Given the description of an element on the screen output the (x, y) to click on. 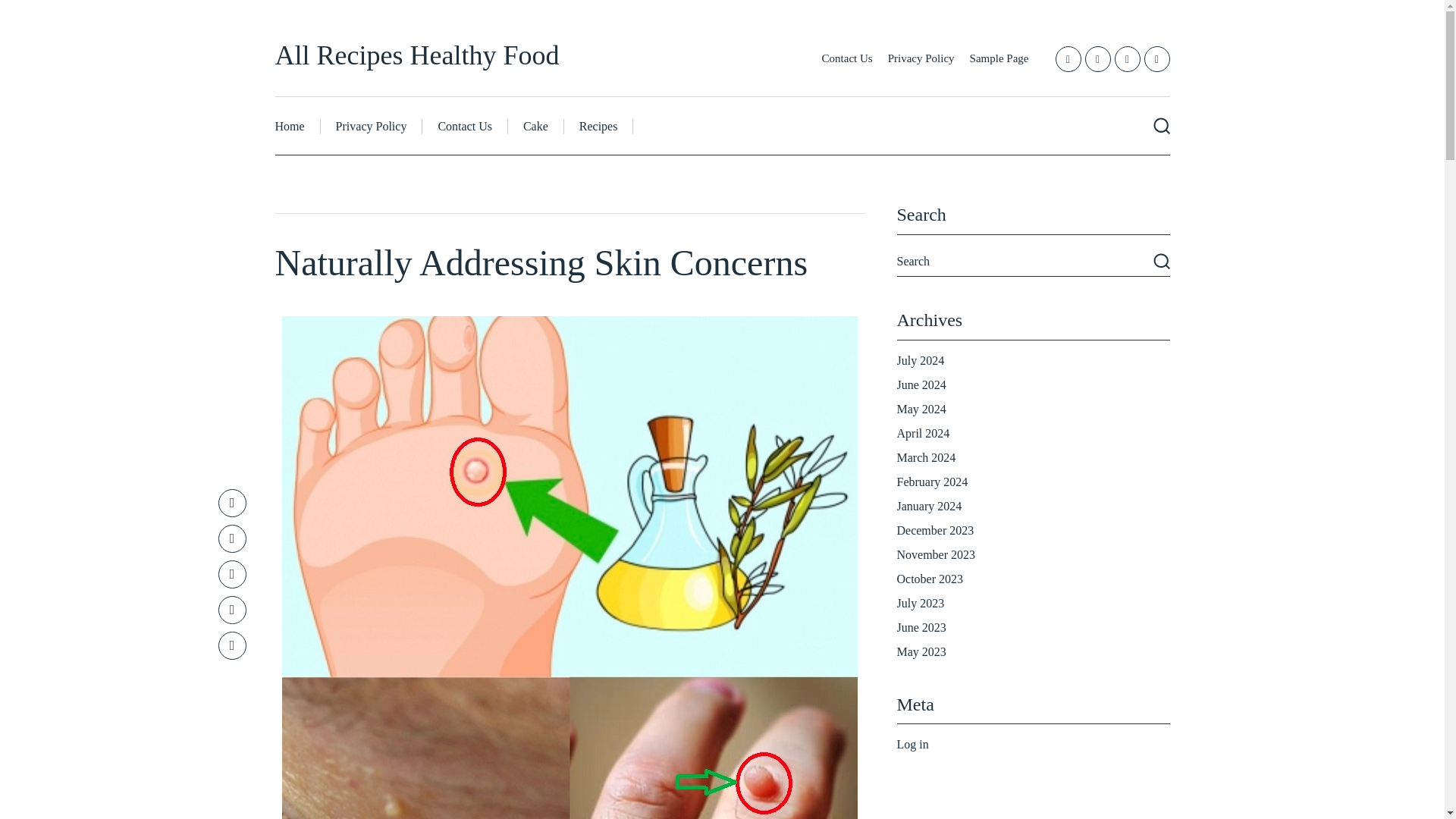
May 2024 (920, 408)
Sample Page (999, 58)
Log in (912, 744)
Privacy Policy (371, 126)
November 2023 (935, 554)
February 2024 (932, 481)
May 2023 (920, 651)
Home (297, 126)
All Recipes Healthy Food (417, 54)
Recipes (598, 126)
Privacy Policy (921, 58)
Cake (536, 126)
June 2023 (920, 626)
July 2023 (919, 603)
December 2023 (935, 530)
